Given the description of an element on the screen output the (x, y) to click on. 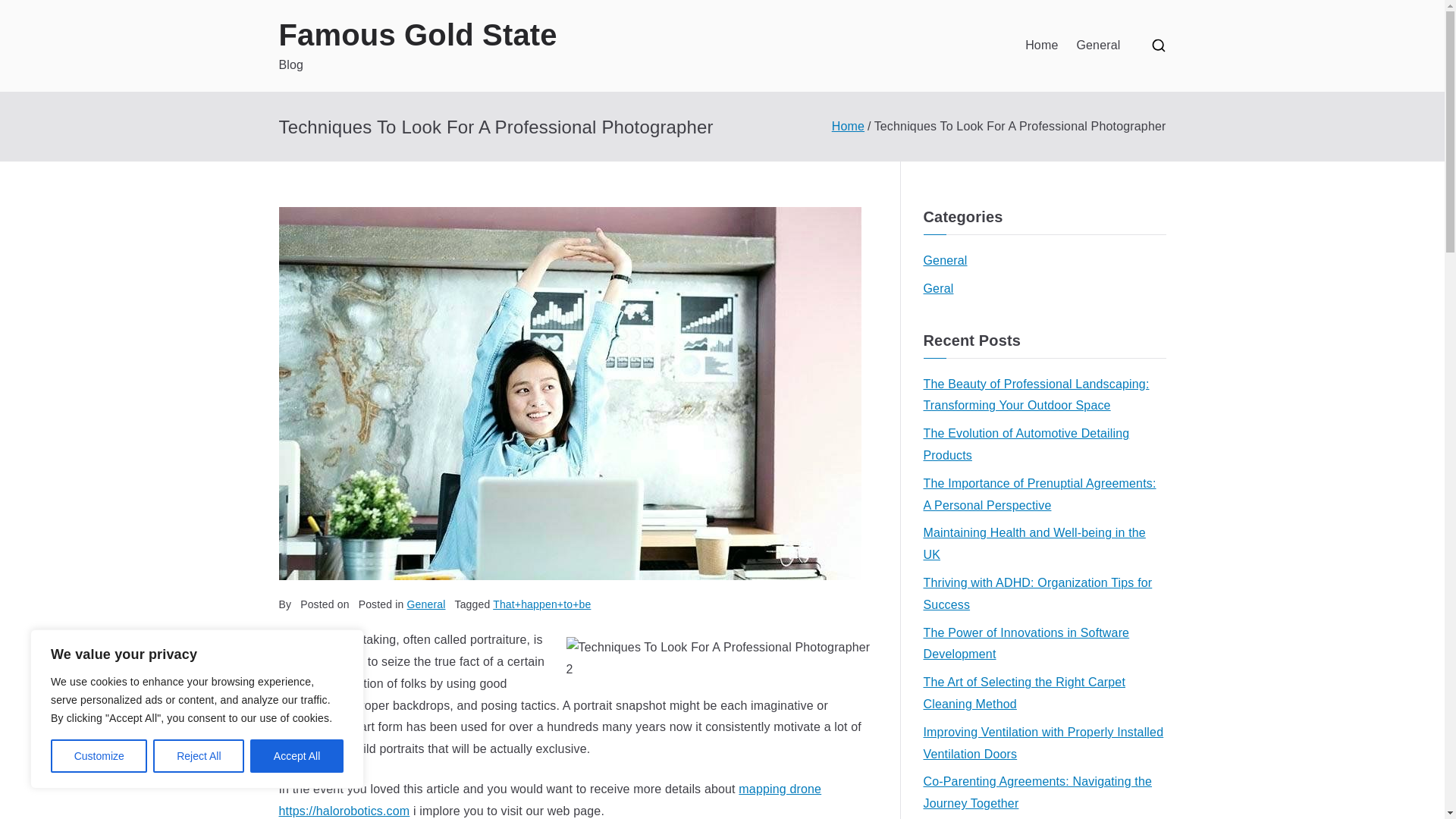
Home (1041, 45)
General (1097, 45)
General (426, 604)
Home (847, 125)
Famous Gold State (418, 34)
Accept All (296, 756)
General (945, 260)
Customize (98, 756)
Reject All (198, 756)
Geral (938, 289)
